Given the description of an element on the screen output the (x, y) to click on. 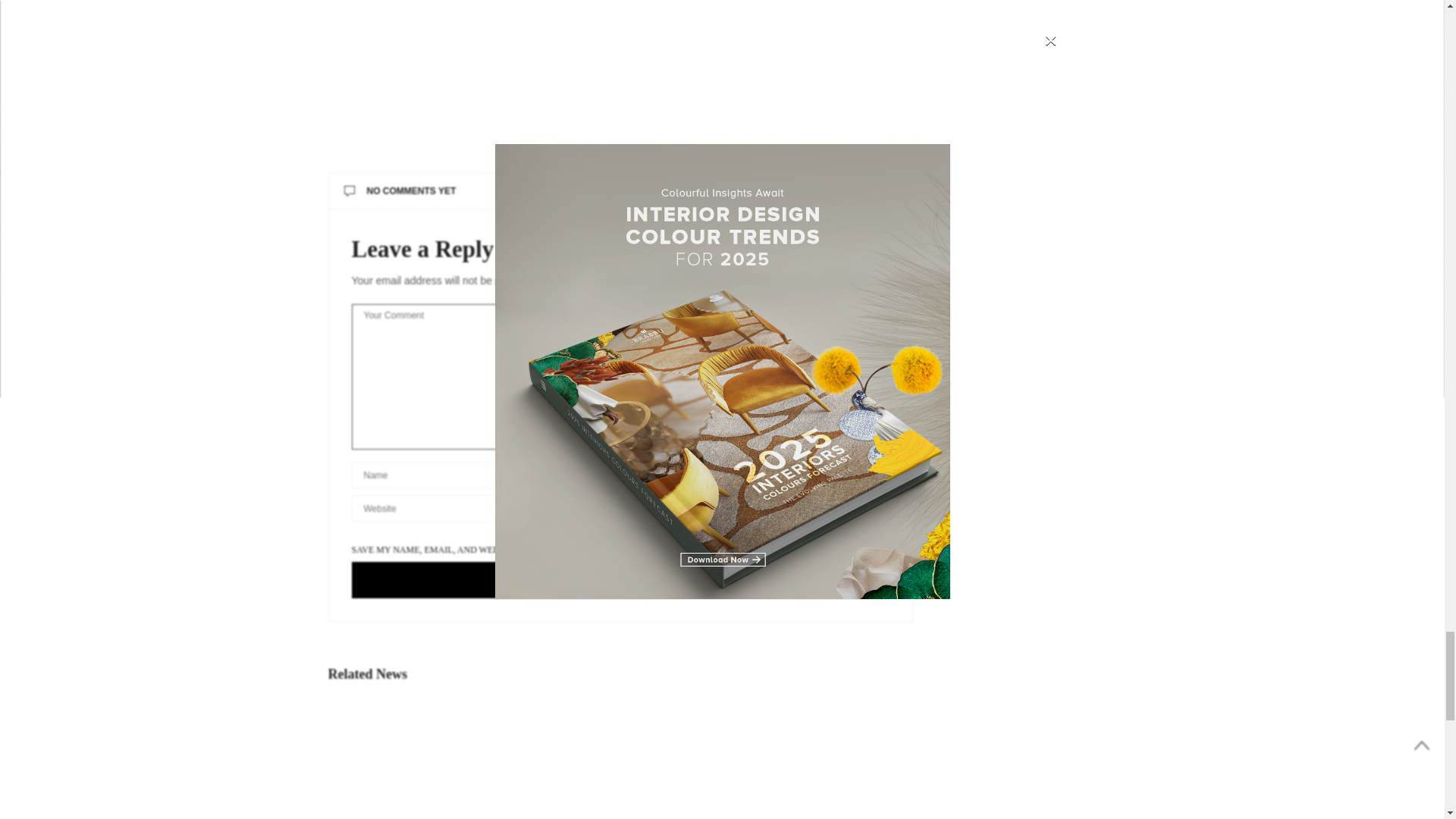
Submit Comment (621, 579)
yes (621, 533)
